Given the description of an element on the screen output the (x, y) to click on. 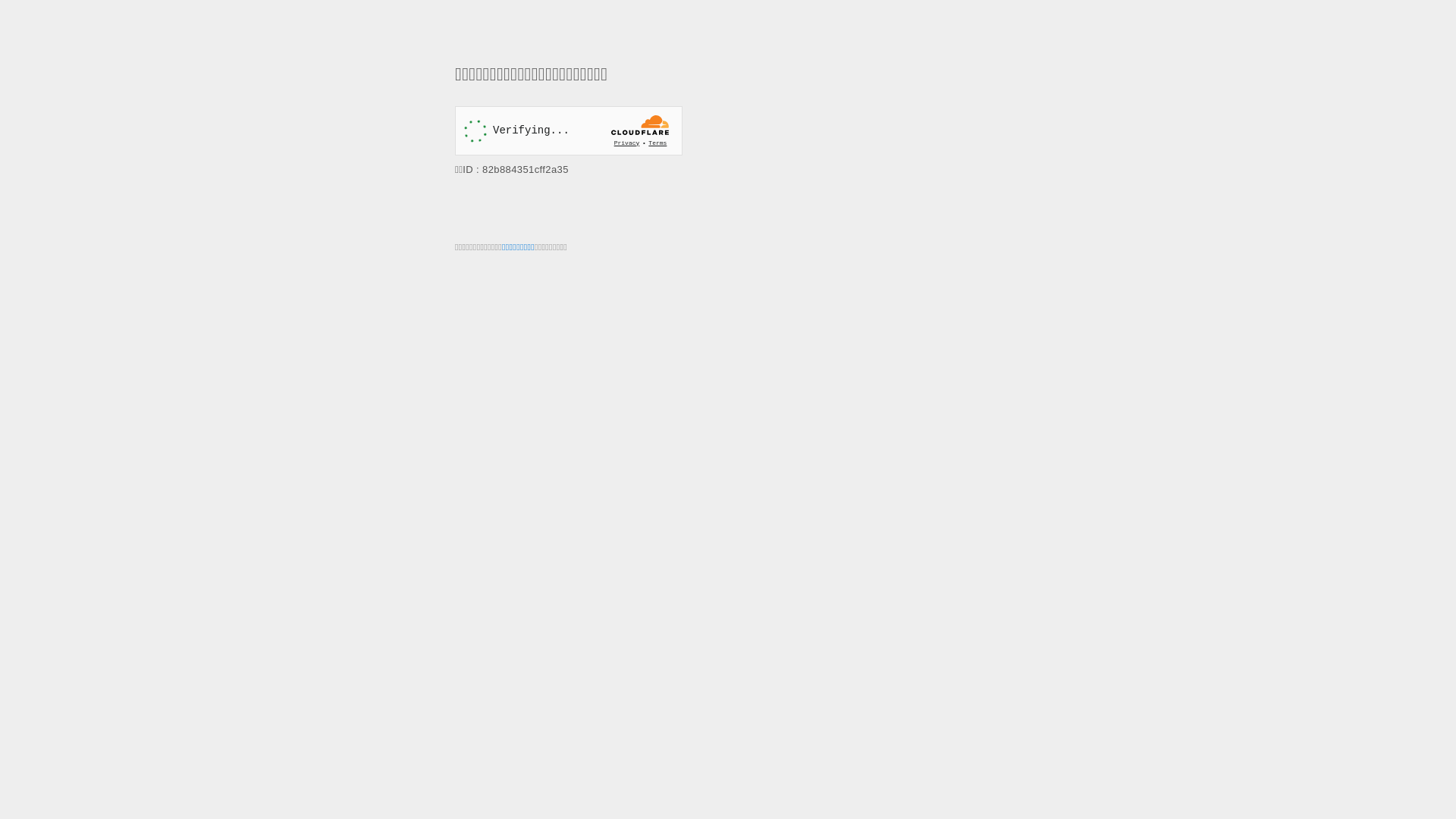
Widget containing a Cloudflare security challenge Element type: hover (568, 130)
